Given the description of an element on the screen output the (x, y) to click on. 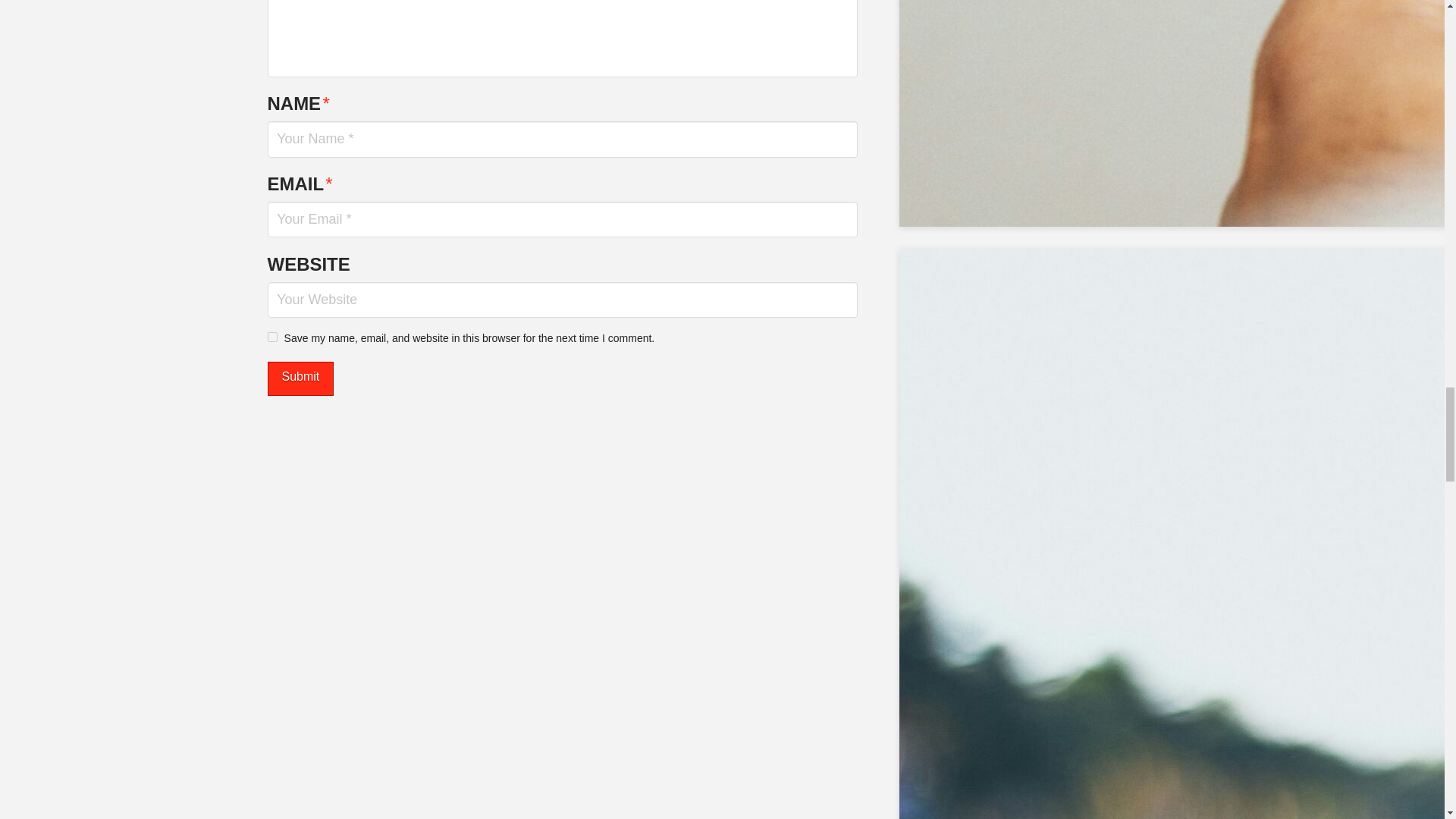
yes (271, 337)
Submit (299, 378)
